Given the description of an element on the screen output the (x, y) to click on. 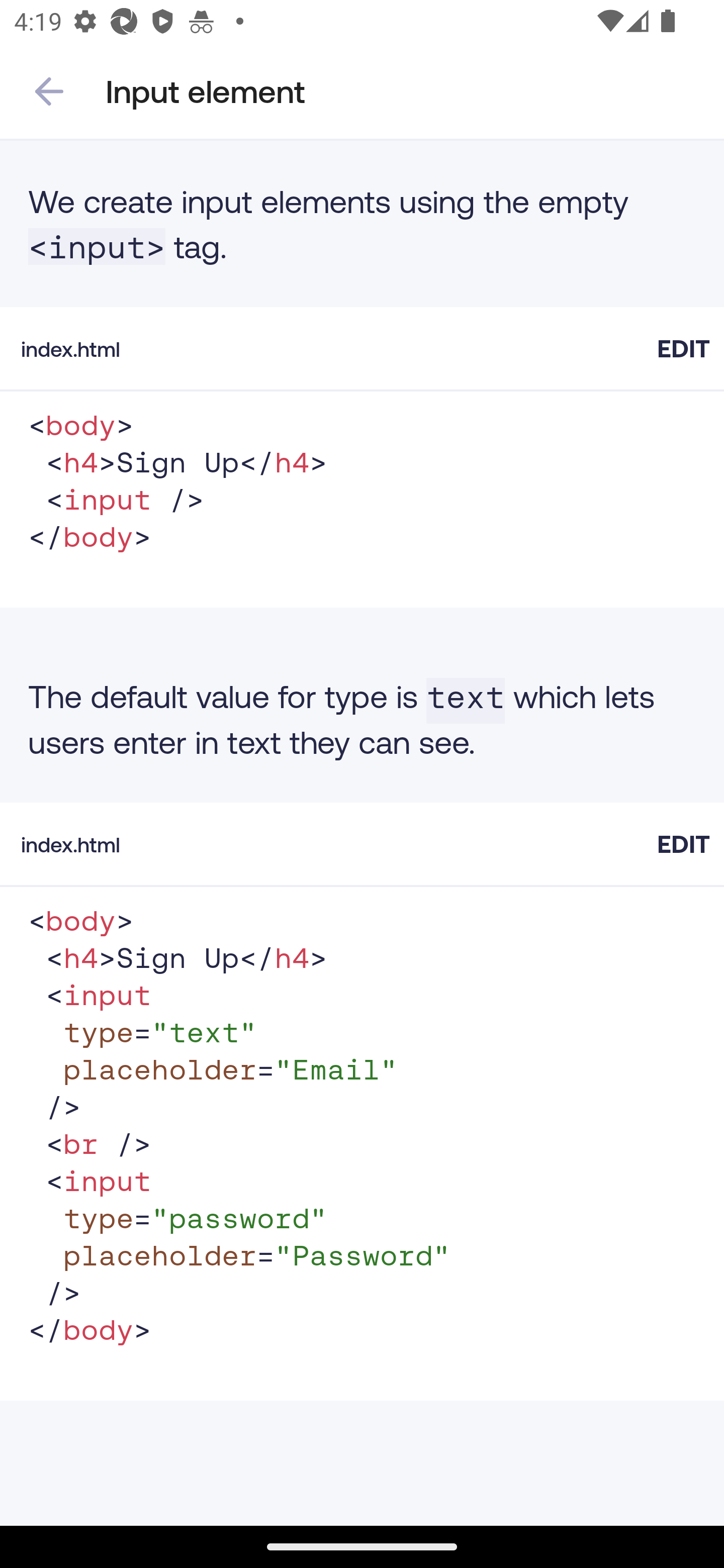
Navigate up (49, 91)
EDIT (683, 347)
EDIT (683, 843)
